Given the description of an element on the screen output the (x, y) to click on. 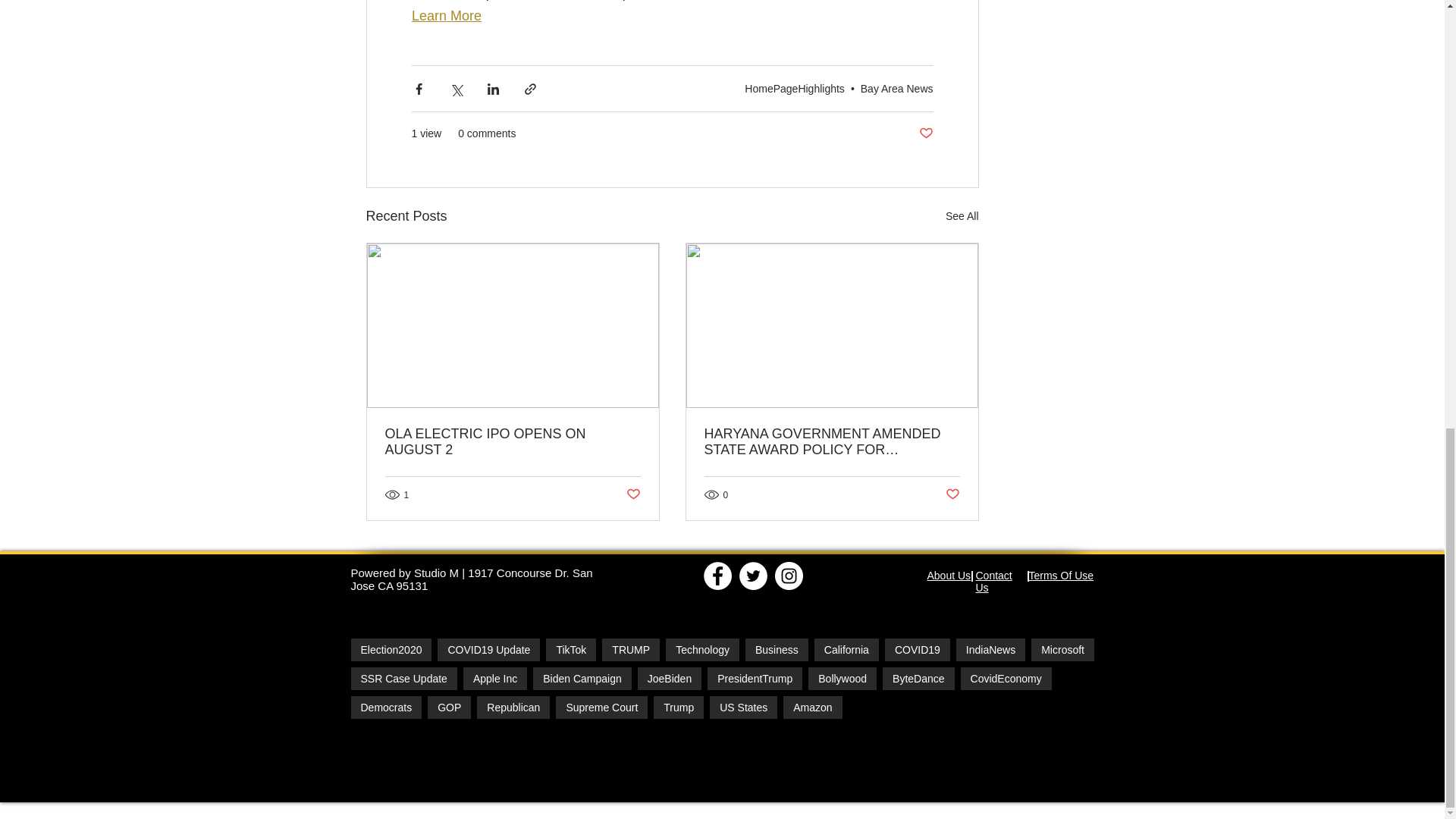
OLA ELECTRIC IPO OPENS ON AUGUST 2 (512, 441)
Learn More (445, 15)
Election2020 (390, 649)
Contact Us (993, 581)
Bay Area News (896, 88)
HomePageHighlights (794, 88)
Terms Of Use (1060, 575)
See All (961, 216)
Post not marked as liked (951, 494)
Post not marked as liked (925, 133)
About Us (948, 575)
Post not marked as liked (633, 494)
COVID19 Update (489, 649)
